Given the description of an element on the screen output the (x, y) to click on. 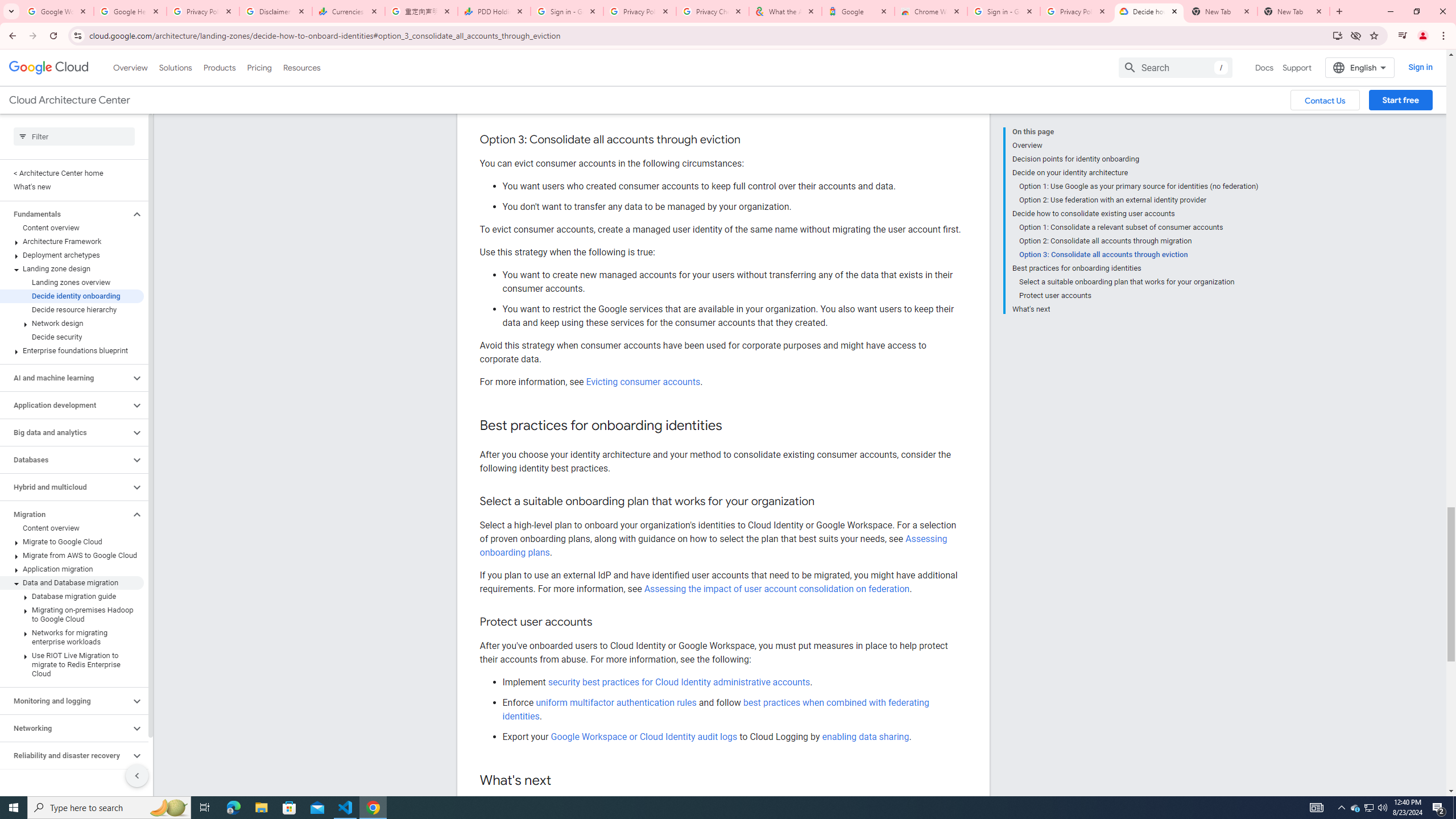
Application migration (72, 568)
Fundamentals (64, 214)
Support (1296, 67)
Option 1: Consolidate a relevant subset of consumer accounts (1138, 227)
Reliability and disaster recovery (64, 755)
Start free (1400, 100)
Assessing onboarding plans (713, 545)
What's new (72, 187)
Contact Us (1324, 100)
< Architecture Center home (72, 173)
Protect user accounts (1138, 295)
New Tab (1293, 11)
